Given the description of an element on the screen output the (x, y) to click on. 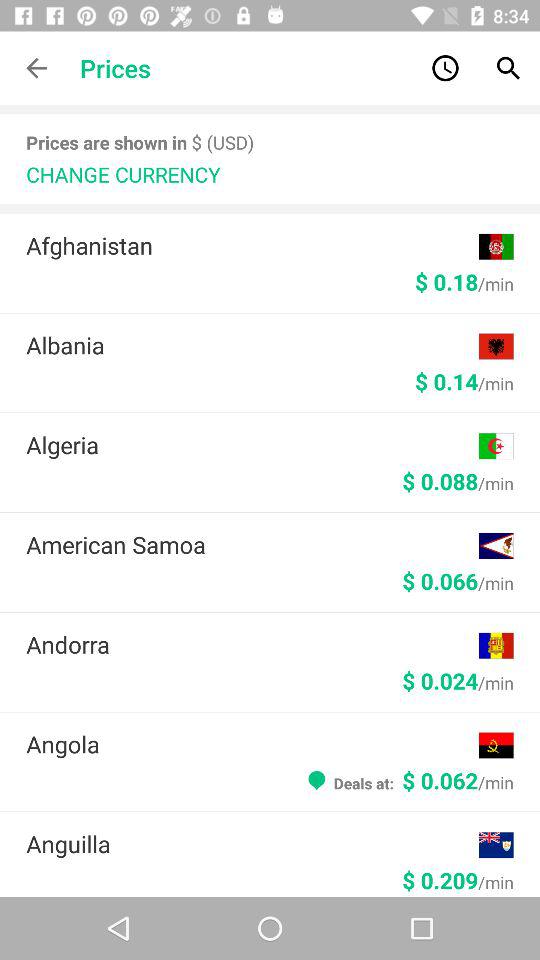
choose the item below deals at 0 icon (252, 843)
